Given the description of an element on the screen output the (x, y) to click on. 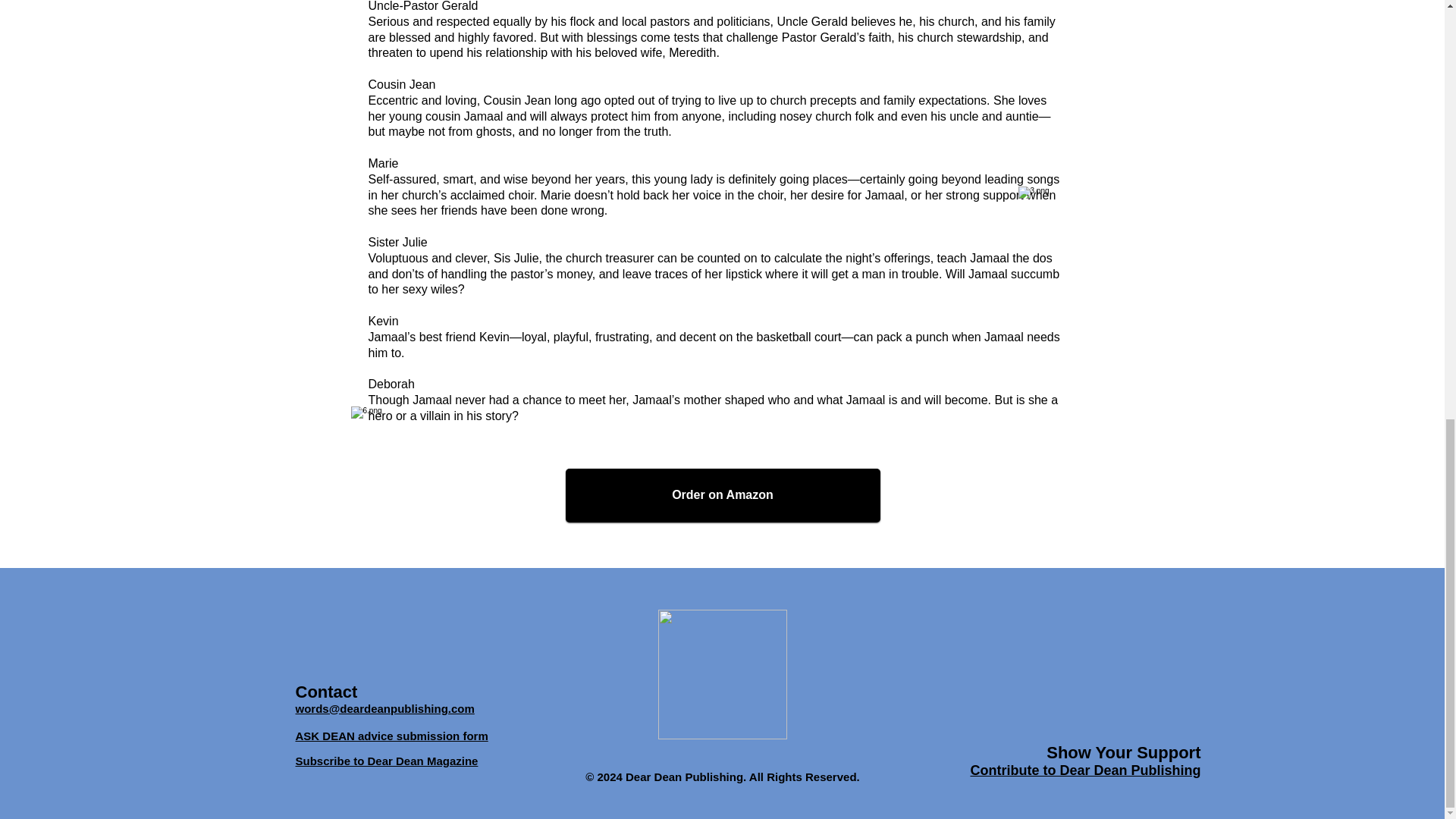
Contribute to Dear Dean Publishing (1084, 769)
Show Your Support (1122, 751)
ASK DEAN advice submission form (391, 735)
Subscribe to Dear Dean Magazine (387, 760)
Order on Amazon (723, 494)
Contact (326, 691)
